Given the description of an element on the screen output the (x, y) to click on. 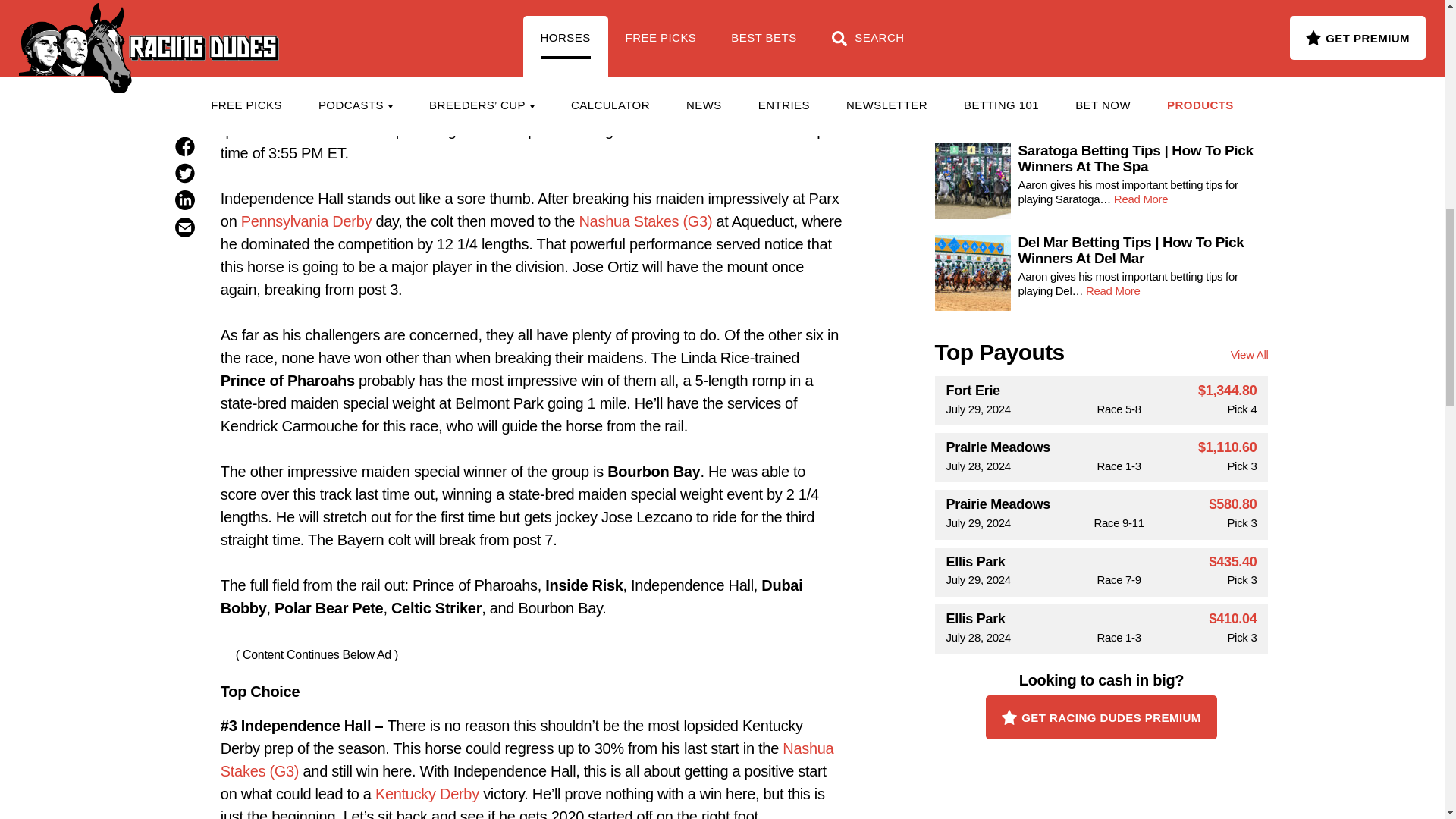
Posts by Aaron Halterman (512, 2)
